Given the description of an element on the screen output the (x, y) to click on. 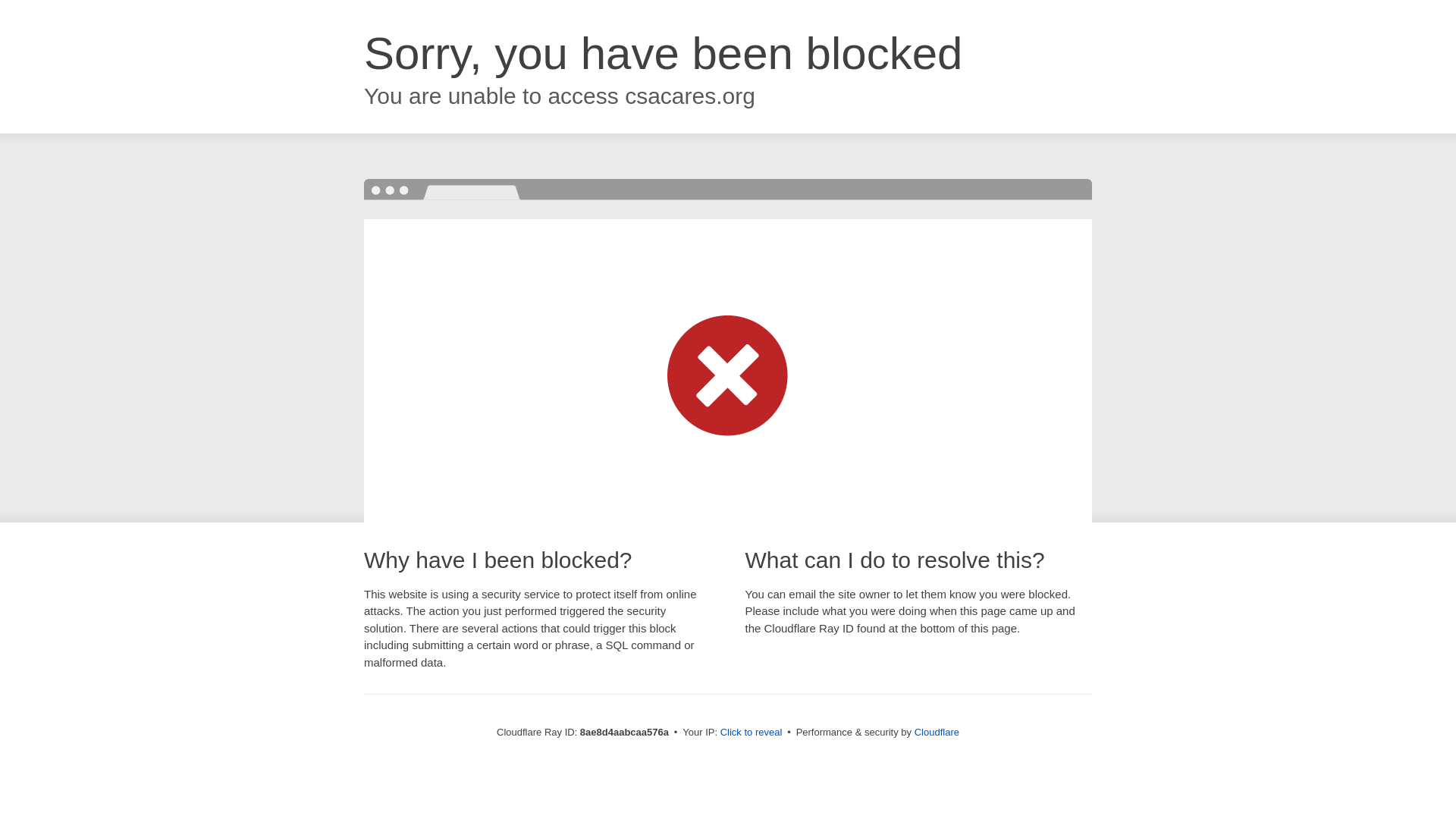
Click to reveal (751, 732)
Cloudflare (936, 731)
